Given the description of an element on the screen output the (x, y) to click on. 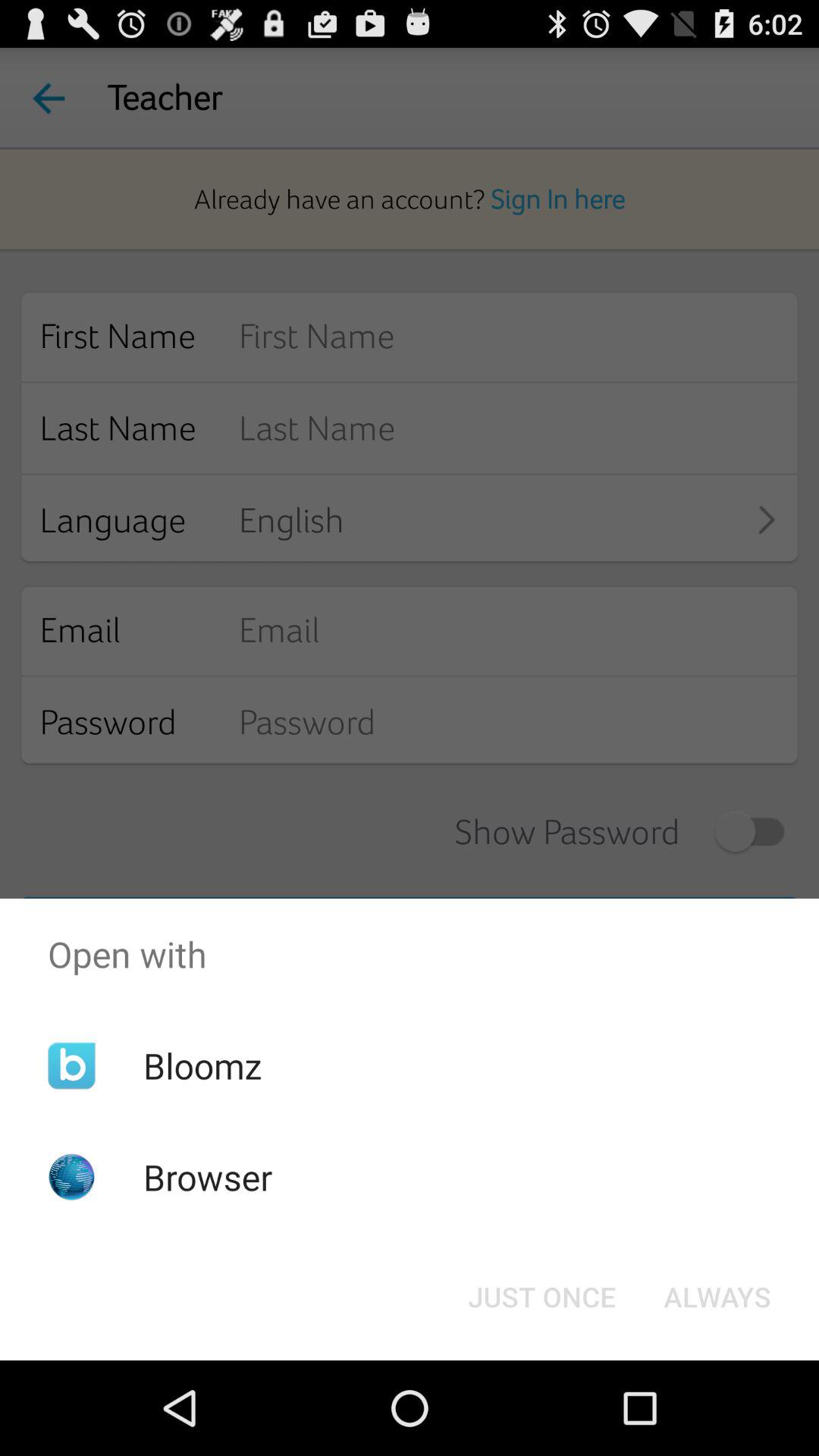
click always icon (717, 1296)
